Given the description of an element on the screen output the (x, y) to click on. 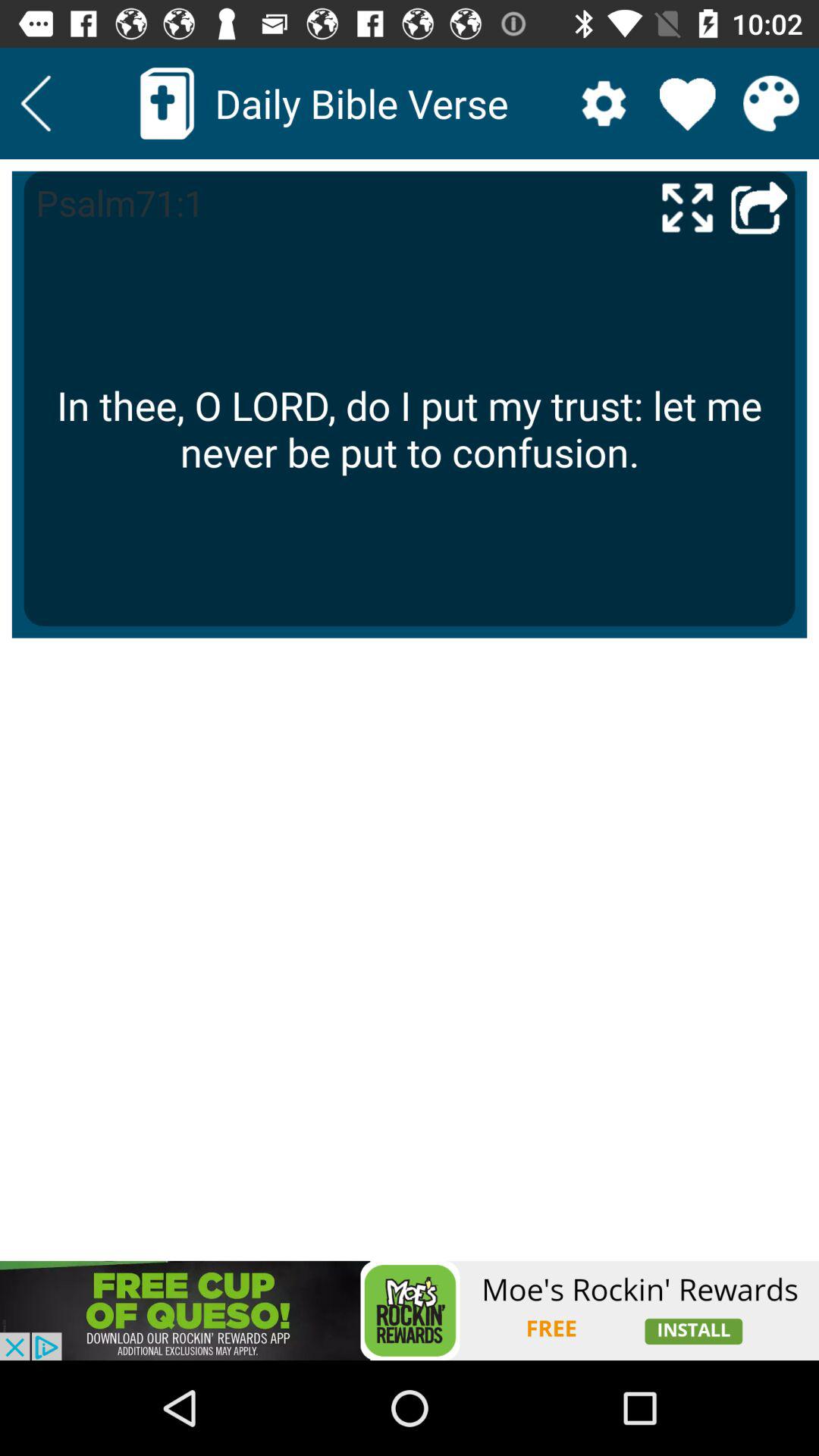
choose advertisement (409, 1310)
